Given the description of an element on the screen output the (x, y) to click on. 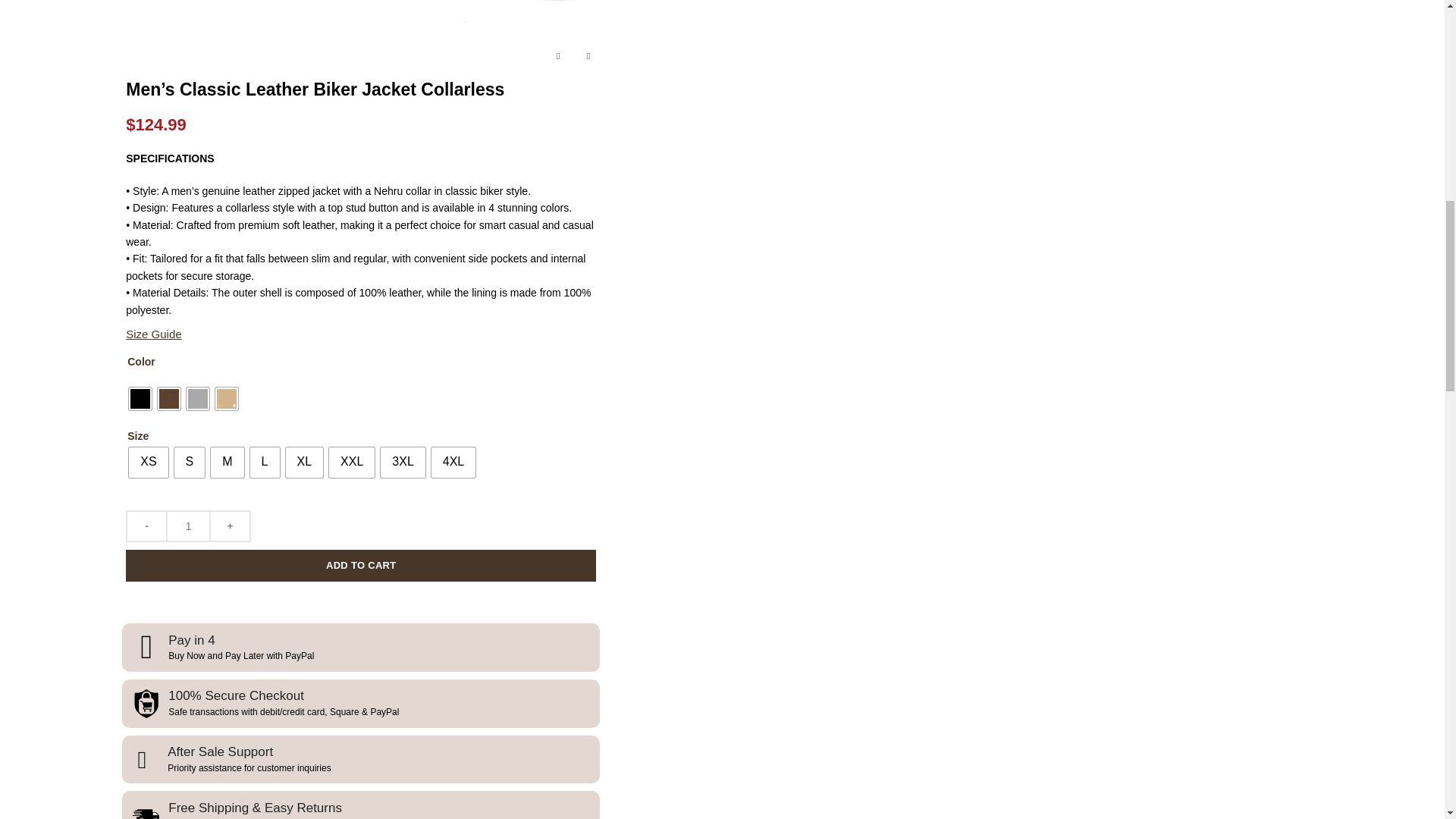
mens-classic-casual-1 (360, 11)
1 (188, 526)
- (146, 526)
